Given the description of an element on the screen output the (x, y) to click on. 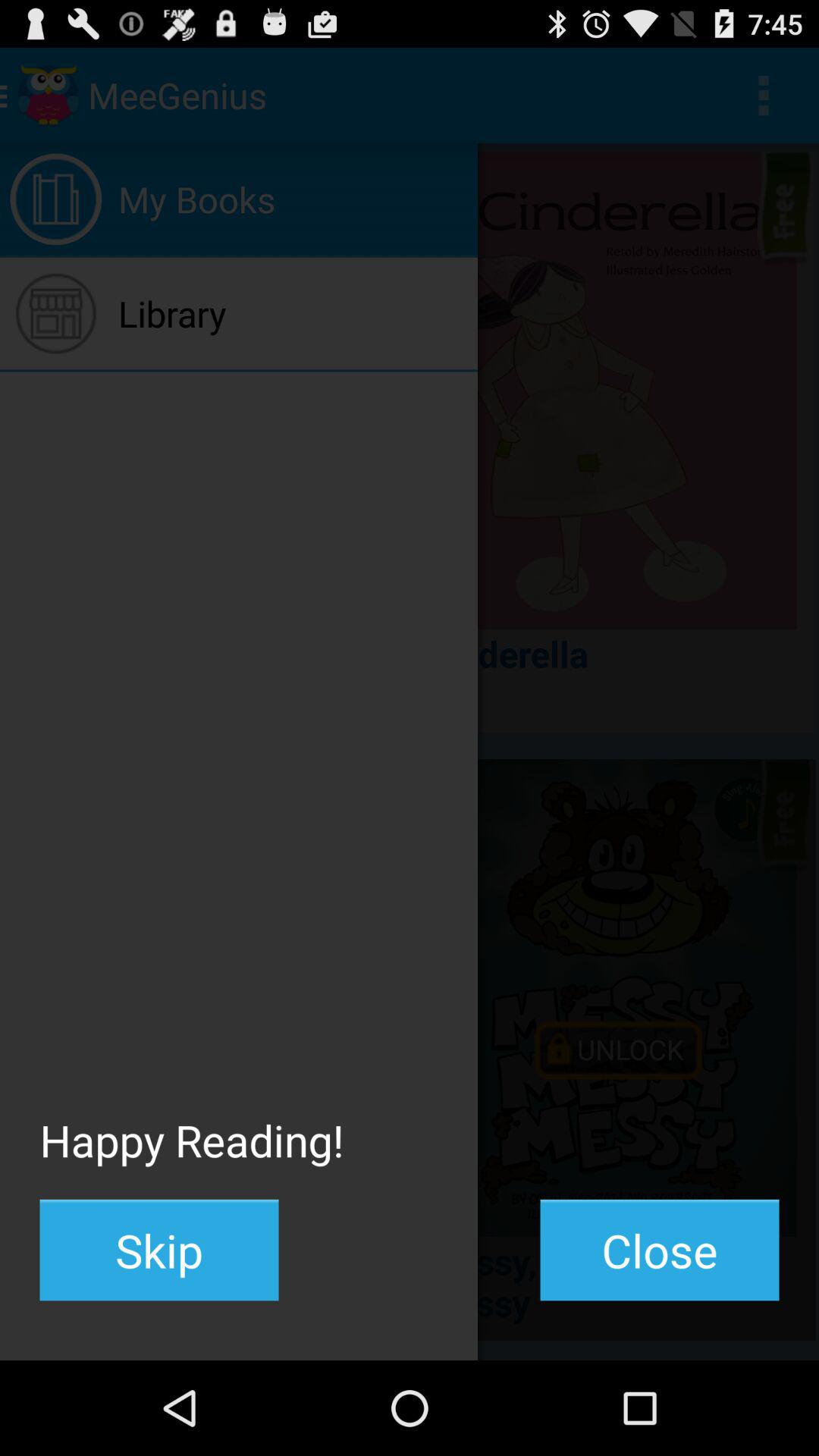
open close button (659, 1249)
